Given the description of an element on the screen output the (x, y) to click on. 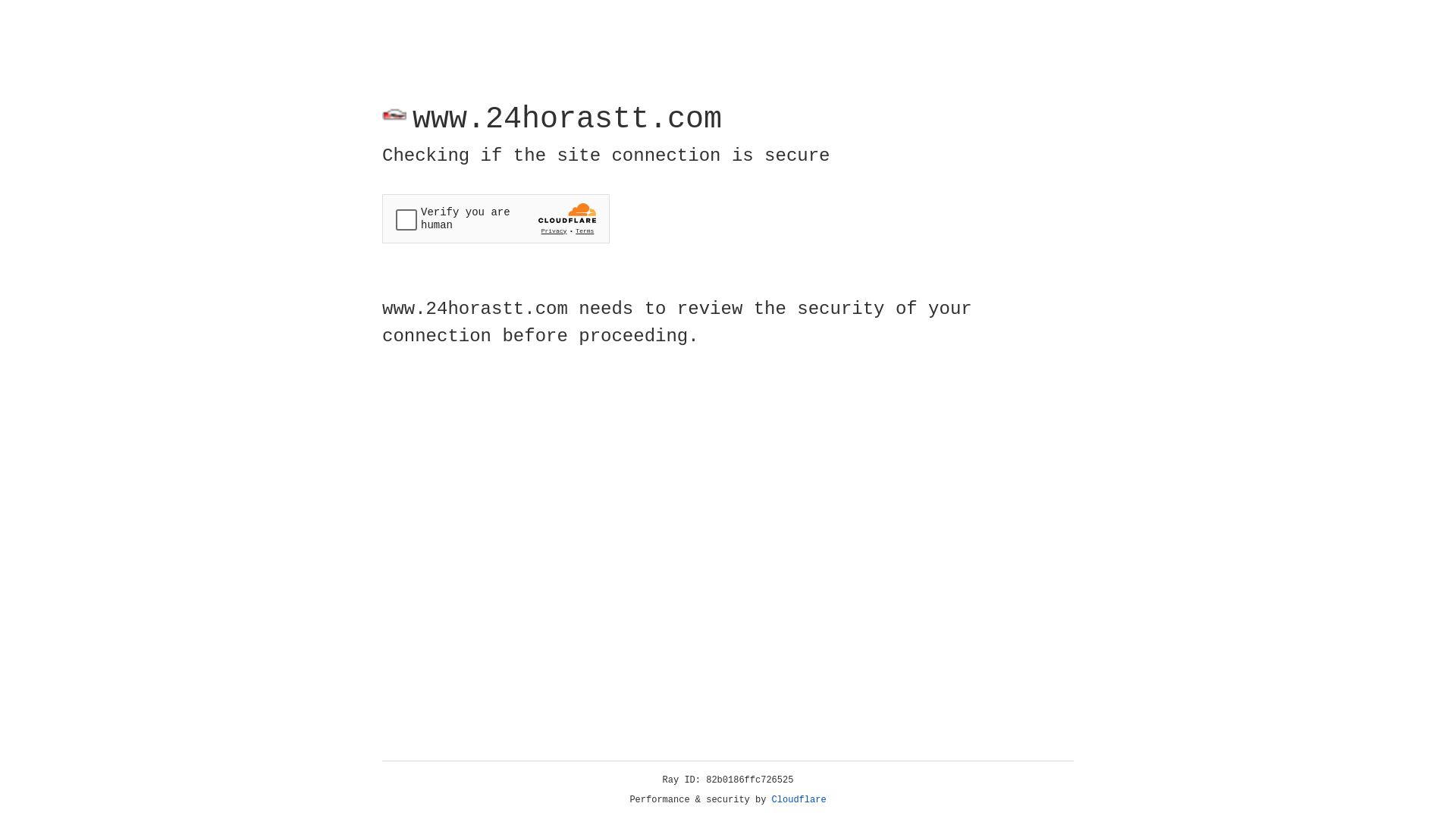
Widget containing a Cloudflare security challenge Element type: hover (495, 218)
Cloudflare Element type: text (798, 799)
